Given the description of an element on the screen output the (x, y) to click on. 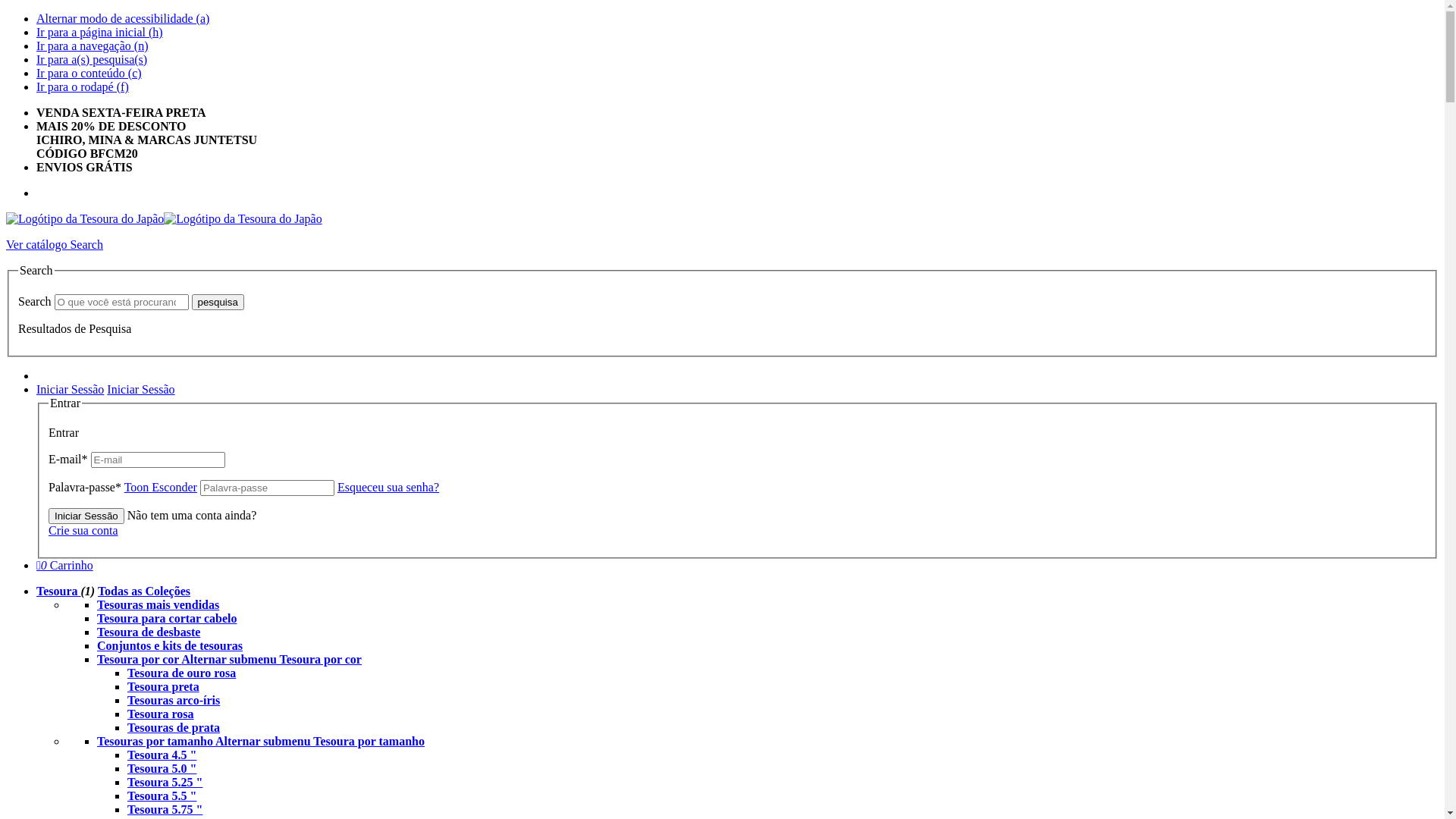
Esqueceu sua senha? Element type: text (388, 486)
Tesoura de desbaste Element type: text (148, 631)
Alternar submenu Tesoura por cor Element type: text (271, 658)
Tesoura 5.75 " Element type: text (164, 809)
Tesoura 5.25 " Element type: text (164, 781)
Tesoura preta Element type: text (163, 686)
Tesouras de prata Element type: text (173, 727)
Ir para a(s) pesquisa(s) Element type: text (91, 59)
Tesoura Element type: text (58, 590)
Tesouras mais vendidas Element type: text (158, 604)
pesquisa Element type: text (217, 302)
Tesoura de ouro rosa Element type: text (181, 672)
Tesouras por tamanho Element type: text (156, 740)
Toon Esconder Element type: text (160, 486)
Crie sua conta Element type: text (83, 530)
Conjuntos e kits de tesouras Element type: text (169, 645)
Tesoura 5.0 " Element type: text (161, 768)
Tesoura rosa Element type: text (160, 713)
Tesoura 5.5 " Element type: text (161, 795)
Search Element type: text (86, 244)
0 Carrinho Element type: text (64, 564)
Tesoura para cortar cabelo Element type: text (166, 617)
Tesoura 4.5 " Element type: text (161, 754)
Tesoura por cor Element type: text (139, 658)
Alternar submenu Tesoura por tamanho Element type: text (319, 740)
Alternar modo de acessibilidade (a) Element type: text (122, 18)
